Given the description of an element on the screen output the (x, y) to click on. 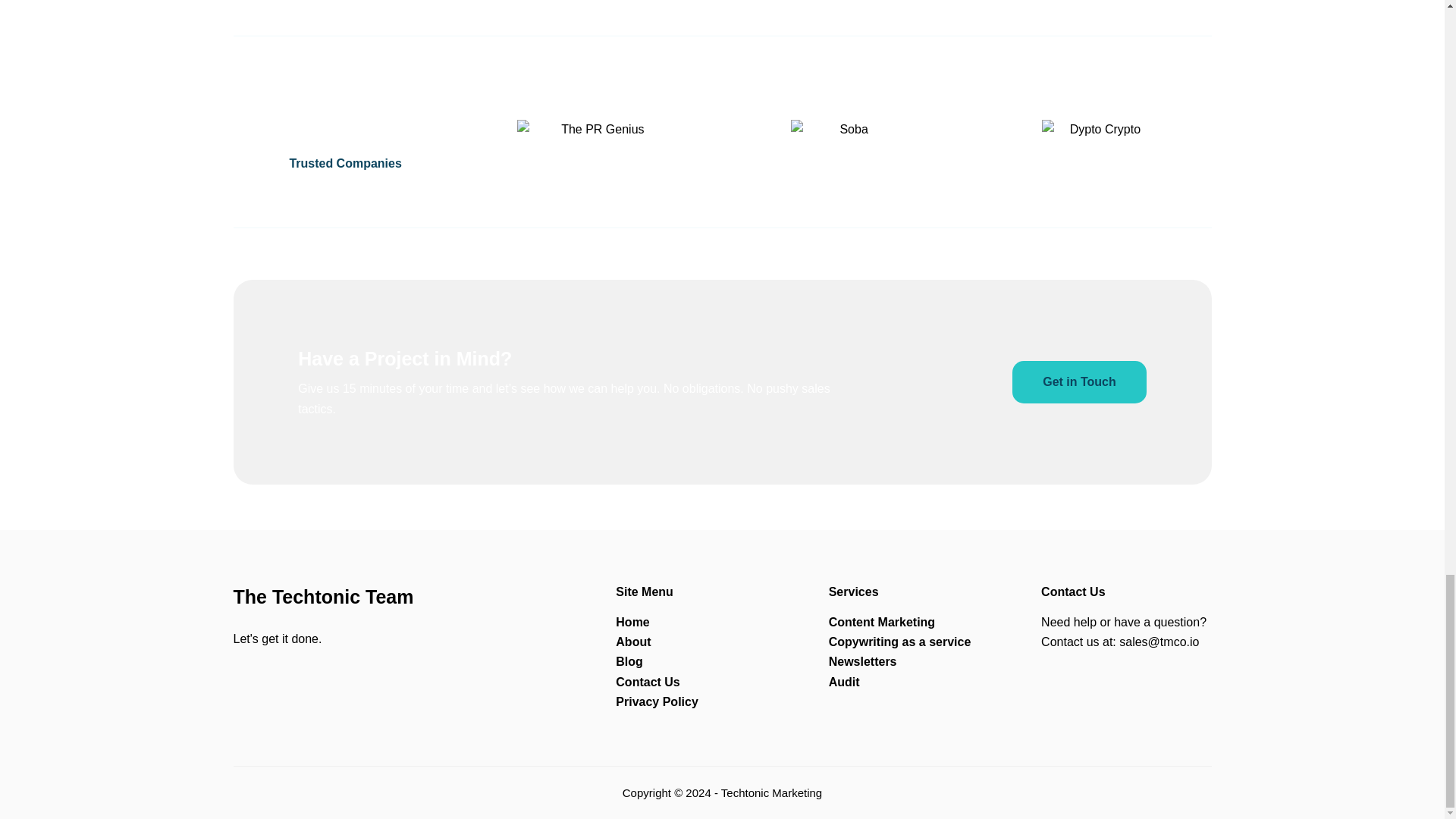
Audit (844, 681)
Blog (629, 661)
Copywriting as a service (899, 641)
Content Marketing (881, 621)
Privacy Policy (656, 701)
About (632, 641)
Newsletters (862, 661)
Home (632, 621)
Get in Touch (1079, 382)
Contact Us (647, 681)
